Given the description of an element on the screen output the (x, y) to click on. 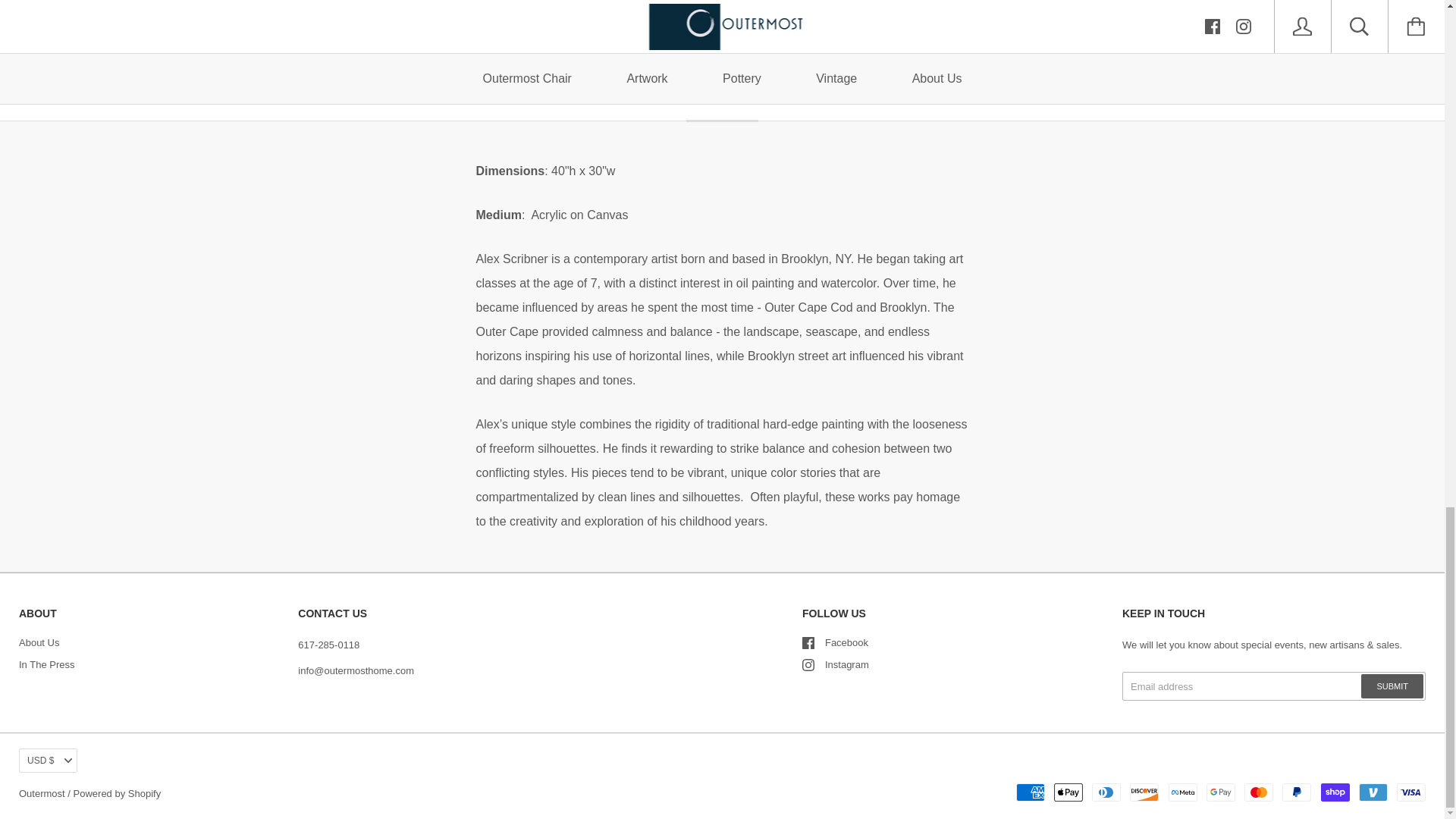
Diners Club (1106, 791)
Instagram (807, 664)
Discover (1143, 791)
About Us (38, 642)
In The Press (46, 664)
PayPal (1296, 791)
Facebook (807, 643)
Mastercard (1258, 791)
Meta Pay (1182, 791)
Apple Pay (1068, 791)
Shop Pay (1334, 791)
American Express (1030, 791)
Google Pay (1220, 791)
Instagram Instagram (835, 664)
Facebook Facebook (834, 642)
